Given the description of an element on the screen output the (x, y) to click on. 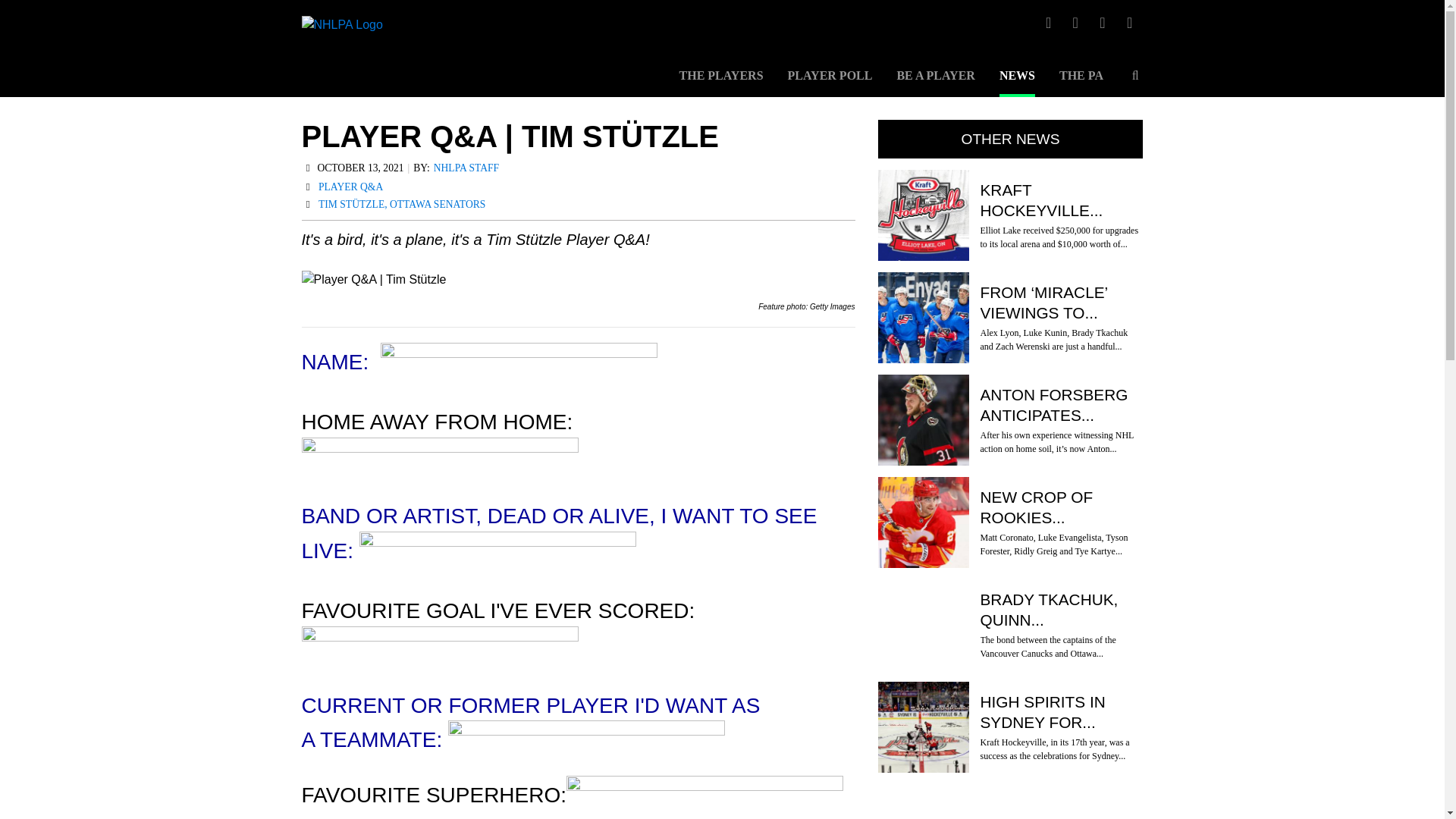
THE PA (1081, 83)
Back to home page (341, 48)
Facebook (1129, 22)
BE A PLAYER (935, 83)
YouTube (1102, 22)
NEWS (1016, 83)
Instagram (1074, 22)
PLAYER POLL (829, 83)
Twitter (1048, 22)
THE PLAYERS (720, 83)
NHLPA STAFF (466, 168)
OTTAWA SENATORS (437, 204)
